Given the description of an element on the screen output the (x, y) to click on. 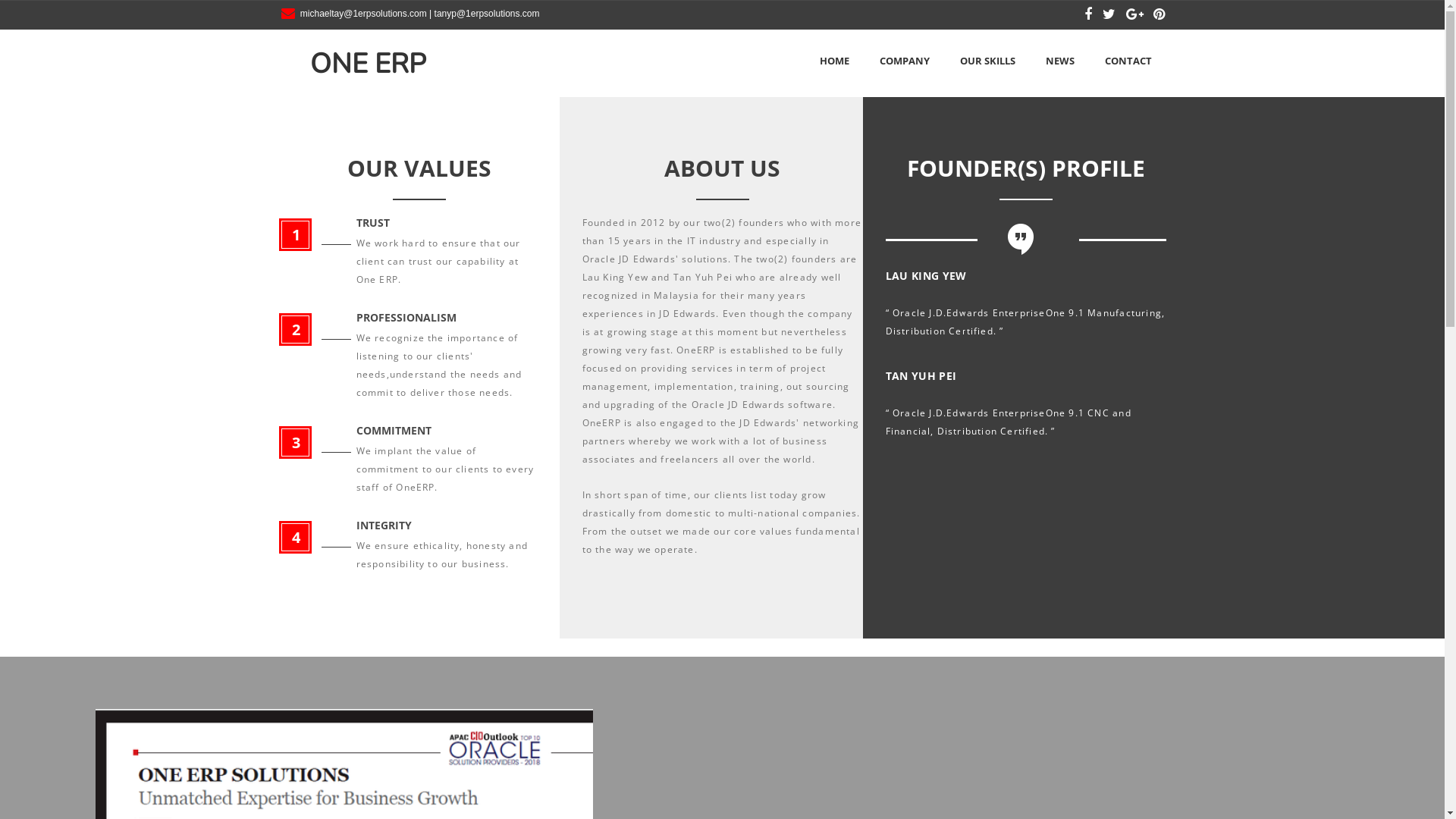
tanyp@1erpsolutions.com Element type: text (486, 13)
COMPANY Element type: text (903, 60)
OUR SKILLS Element type: text (986, 60)
ONE ERP Element type: text (352, 64)
CONTACT Element type: text (1128, 60)
NEWS Element type: text (1059, 60)
HOME Element type: text (834, 60)
michaeltay@1erpsolutions.com Element type: text (363, 13)
